Given the description of an element on the screen output the (x, y) to click on. 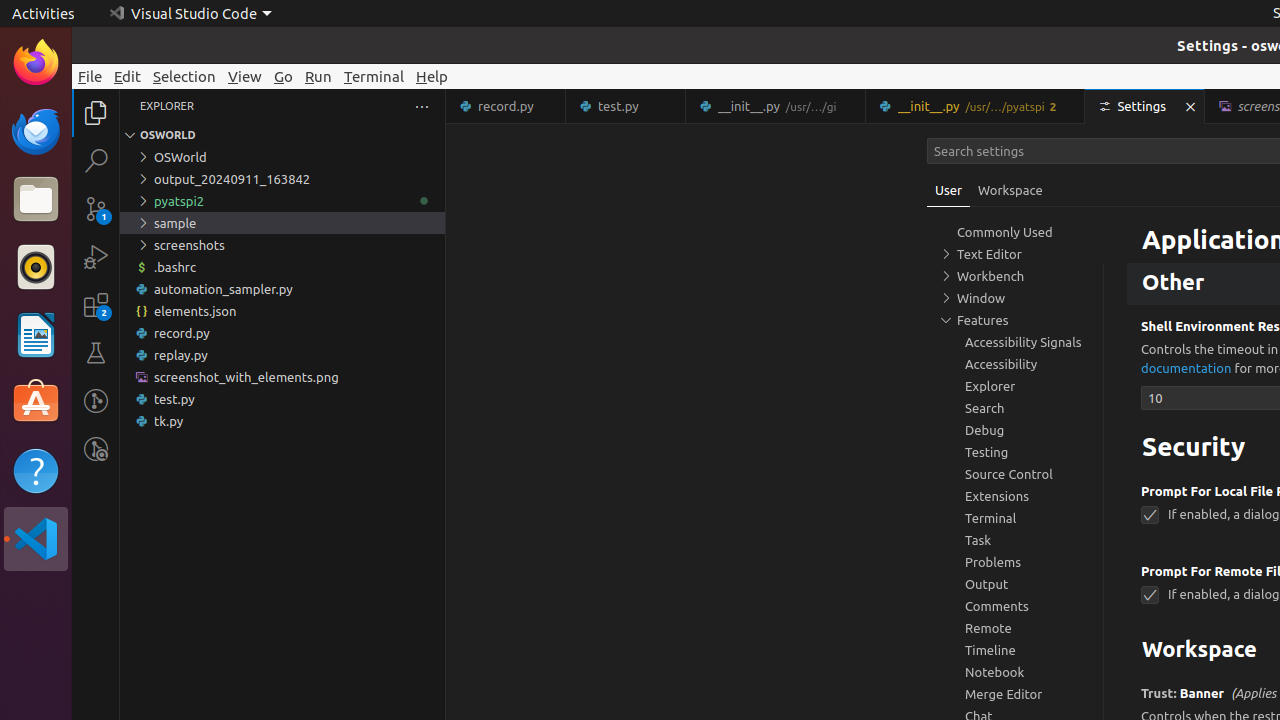
View Element type: push-button (245, 76)
Run and Debug (Ctrl+Shift+D) Element type: page-tab (96, 257)
User Element type: check-box (949, 190)
Workbench, group Element type: tree-item (1015, 276)
